Given the description of an element on the screen output the (x, y) to click on. 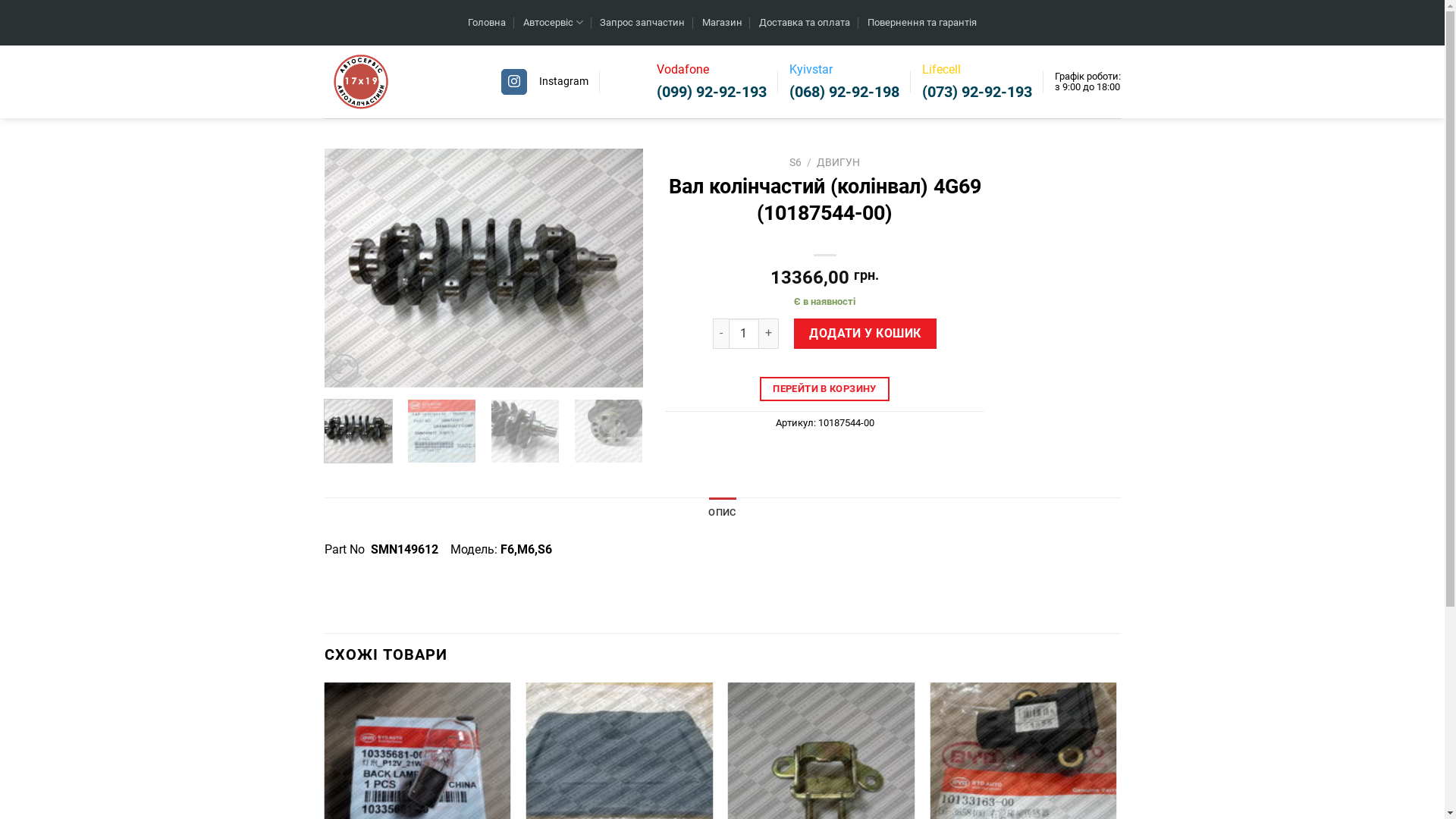
(073) 92-92-193 Element type: text (977, 91)
10187544-00 Element type: hover (483, 267)
S6 Element type: text (795, 162)
(068) 92-92-198 Element type: text (843, 91)
(099) 92-92-193 Element type: text (711, 91)
